Given the description of an element on the screen output the (x, y) to click on. 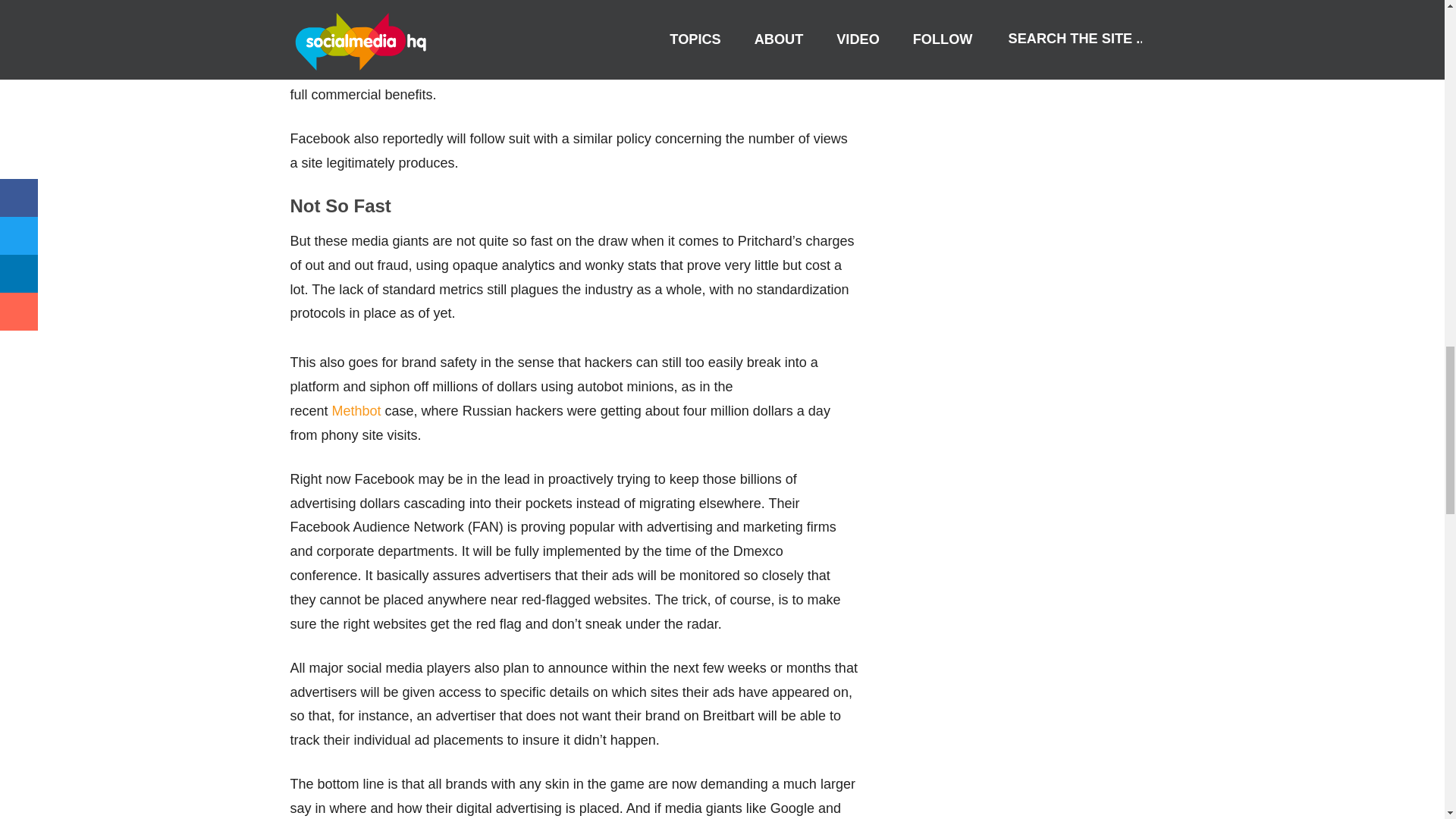
Methbot (356, 410)
